Given the description of an element on the screen output the (x, y) to click on. 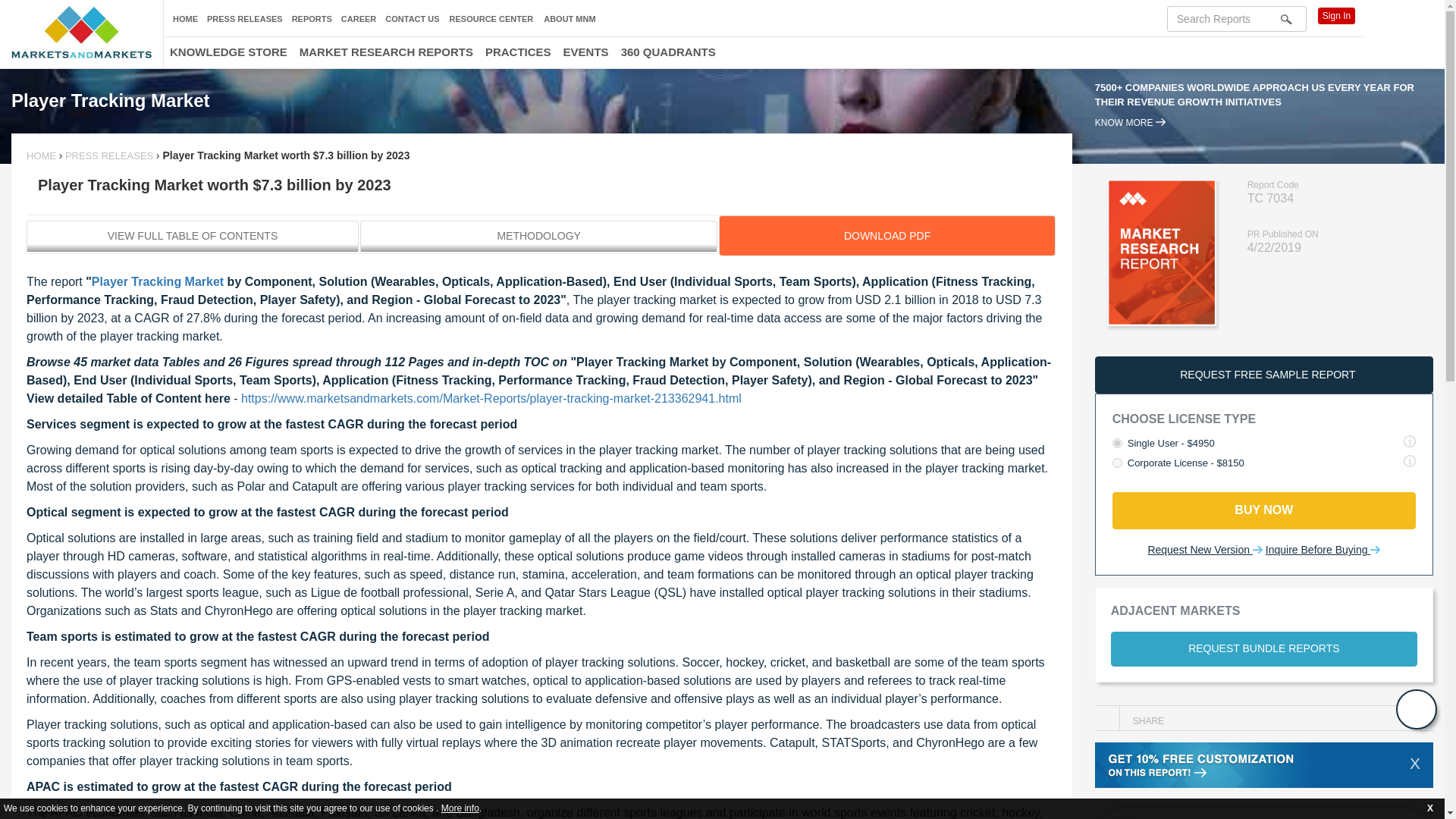
PRESS RELEASES (108, 155)
PRESS RELEASES (244, 18)
More info (460, 808)
REQUEST BUNDLE REPORTS (1263, 648)
on (1117, 462)
Inquire Before Buying (1322, 549)
METHODOLOGY (538, 235)
REPORTS (311, 18)
